Given the description of an element on the screen output the (x, y) to click on. 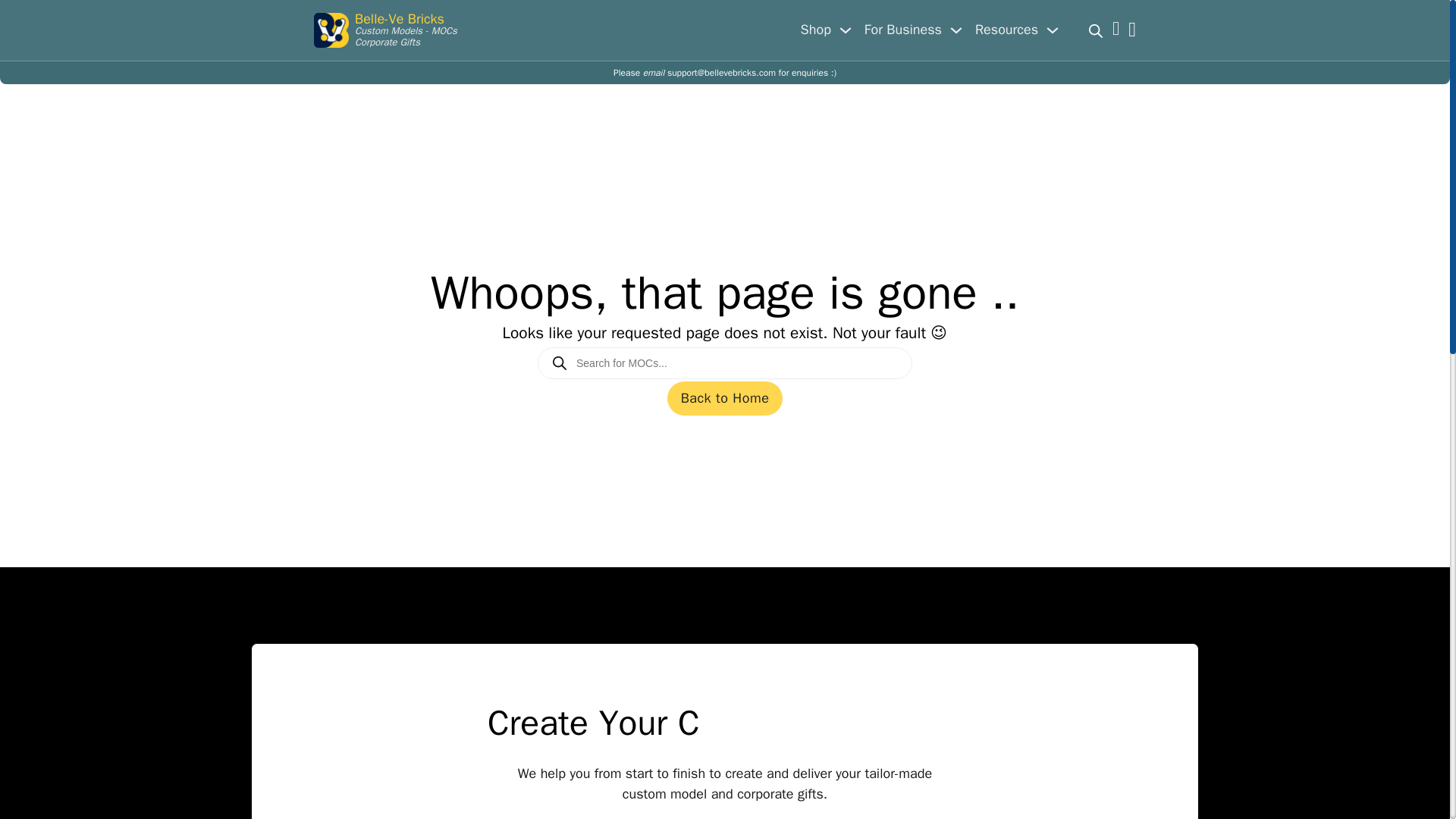
For Business (903, 29)
Resources (1006, 29)
Shop (815, 29)
Belle-Ve Bricks (399, 18)
